Given the description of an element on the screen output the (x, y) to click on. 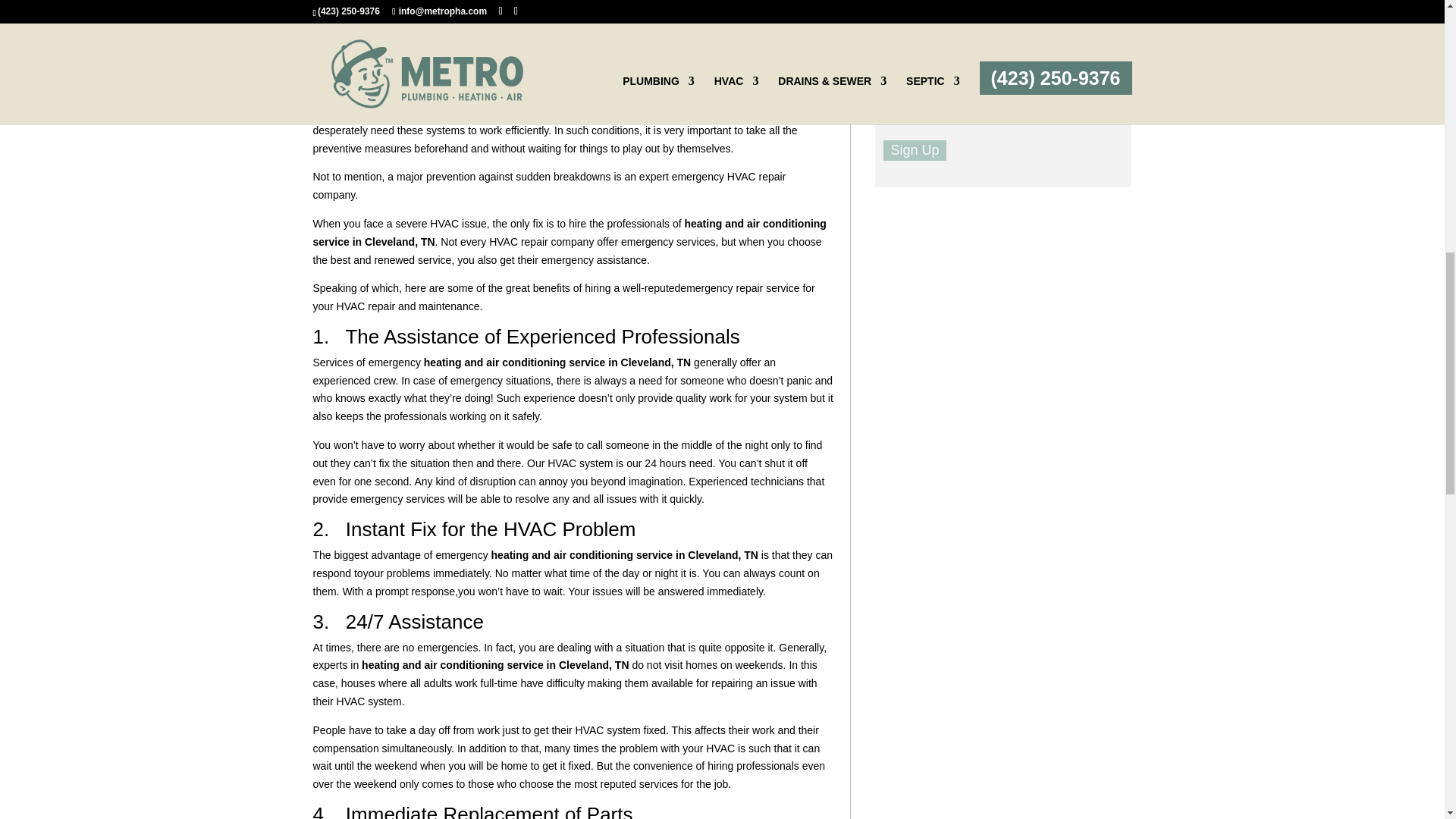
Sign Up (914, 150)
